Given the description of an element on the screen output the (x, y) to click on. 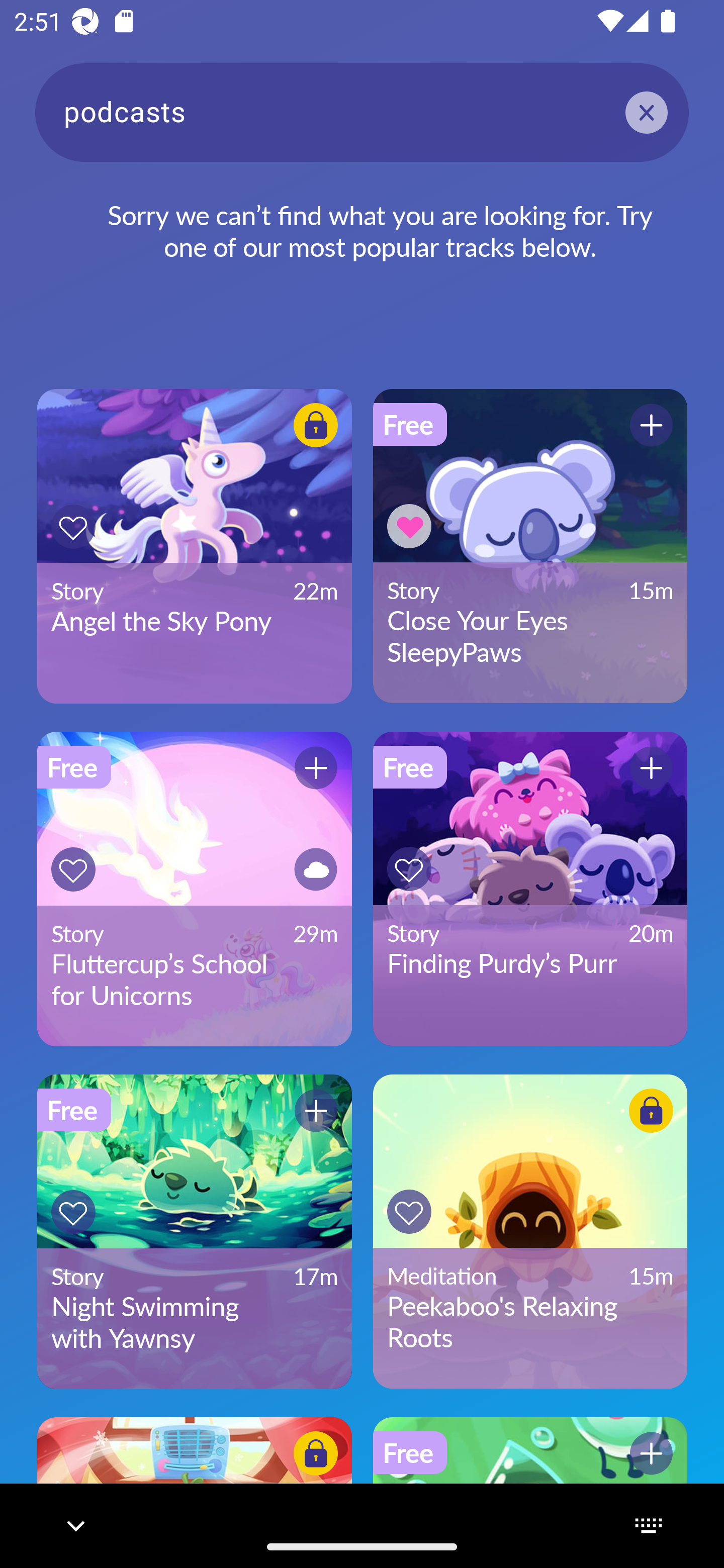
podcasts (361, 111)
Button (315, 424)
Button (650, 424)
Button (409, 525)
Button (73, 526)
Button (315, 767)
Button (650, 767)
Button (409, 868)
Button (73, 869)
Button (315, 869)
Button (315, 1109)
Button (650, 1109)
Button (409, 1211)
Button (73, 1211)
Button (315, 1453)
Button (650, 1453)
